Given the description of an element on the screen output the (x, y) to click on. 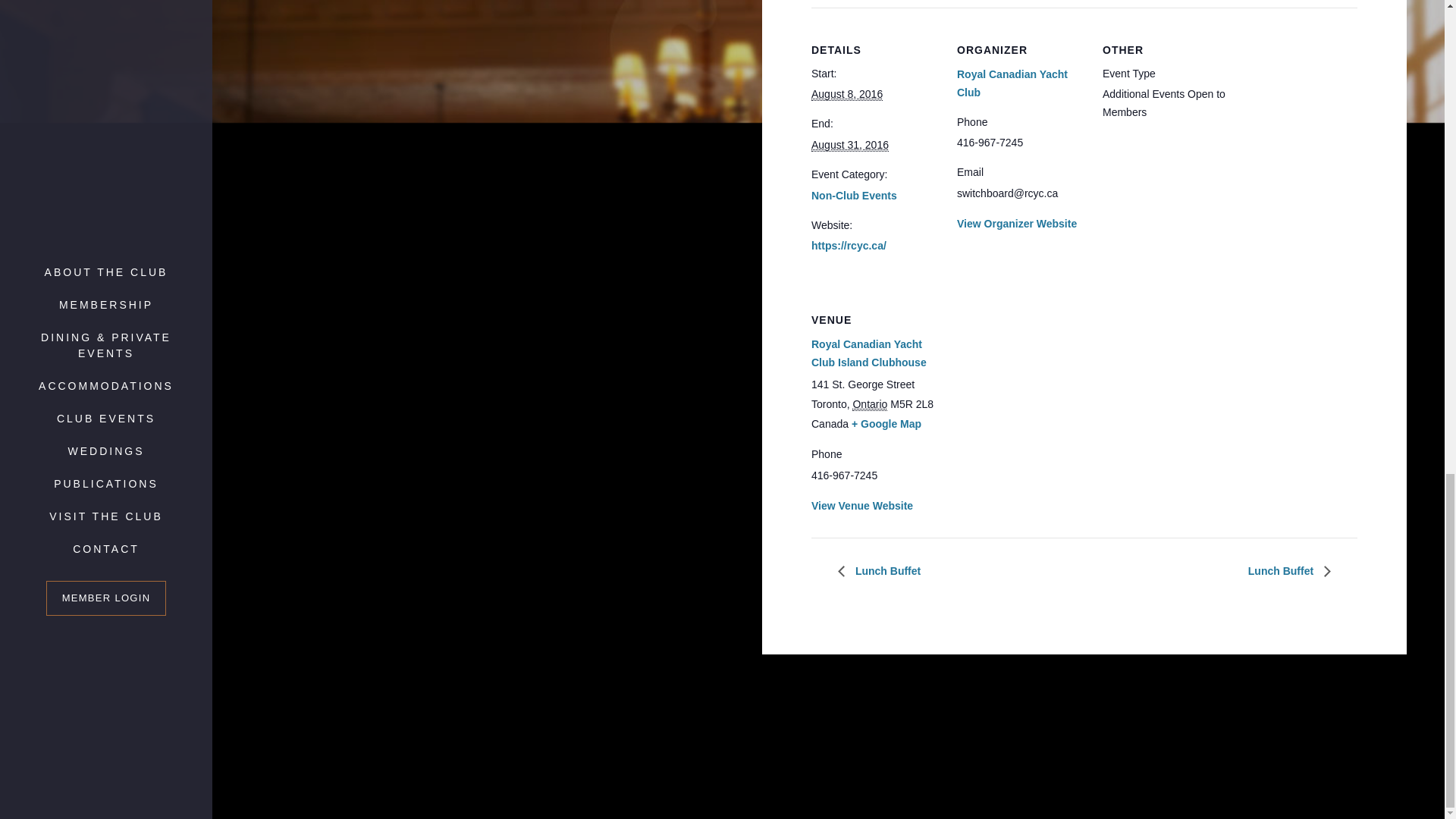
Click to view a Google Map (886, 423)
2016-08-31 (849, 144)
2016-08-08 (846, 93)
Ontario (868, 404)
Royal Canadian Yacht Club (1011, 82)
